Given the description of an element on the screen output the (x, y) to click on. 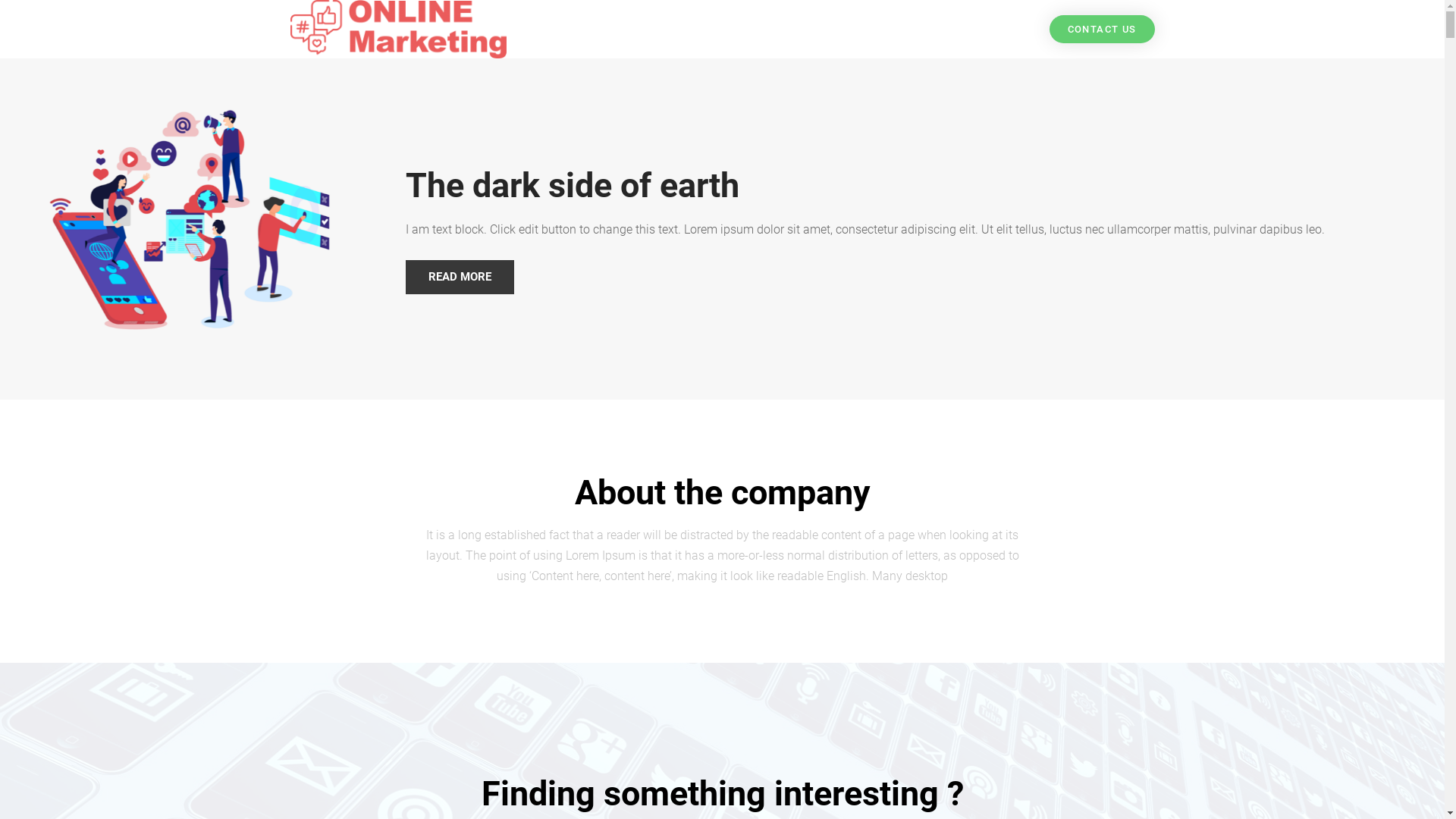
CONTACT US Element type: text (1101, 29)
READ MORE Element type: text (459, 277)
